Given the description of an element on the screen output the (x, y) to click on. 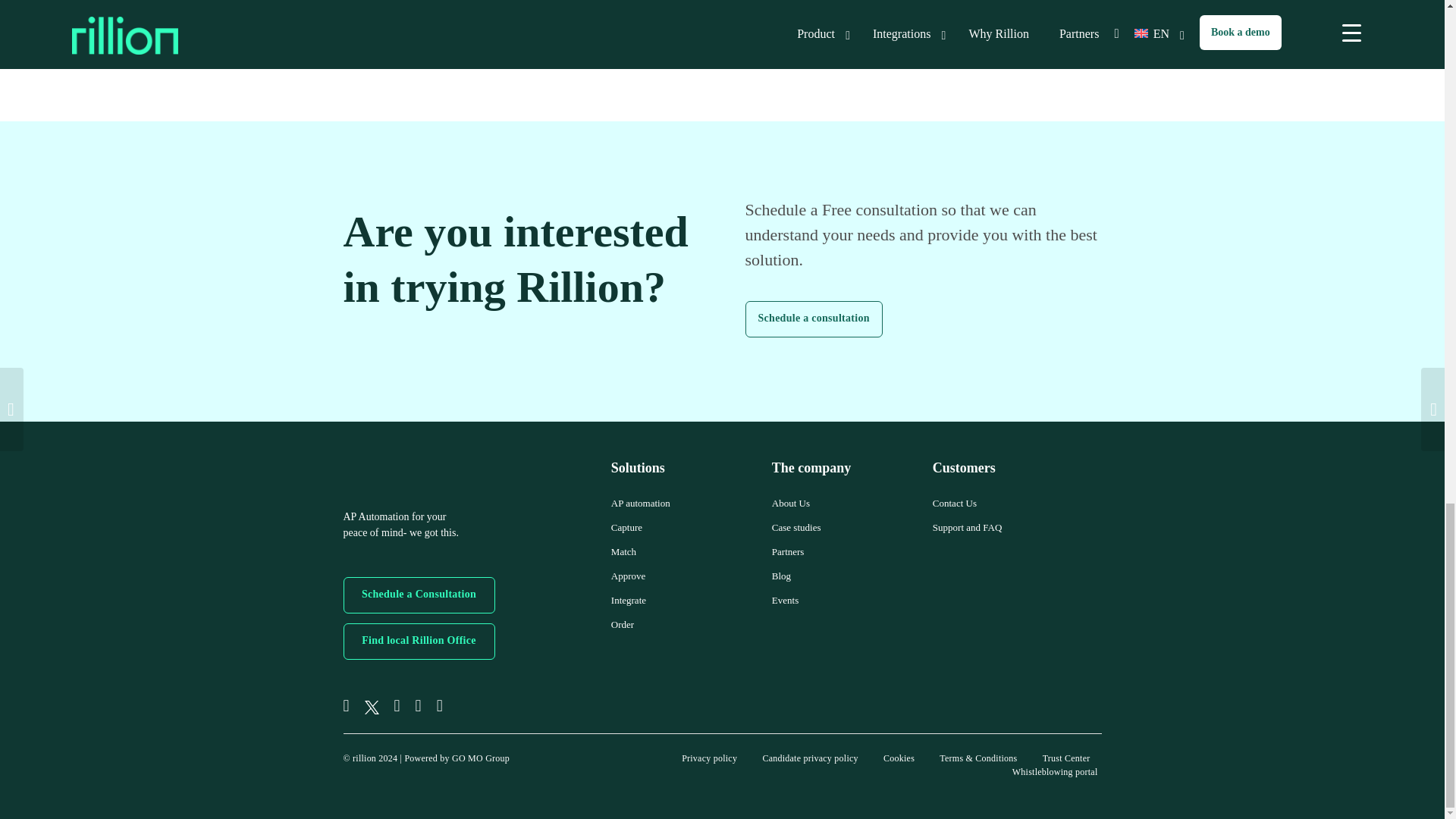
logo (380, 472)
Users love Rillion on G2 (961, 621)
